Given the description of an element on the screen output the (x, y) to click on. 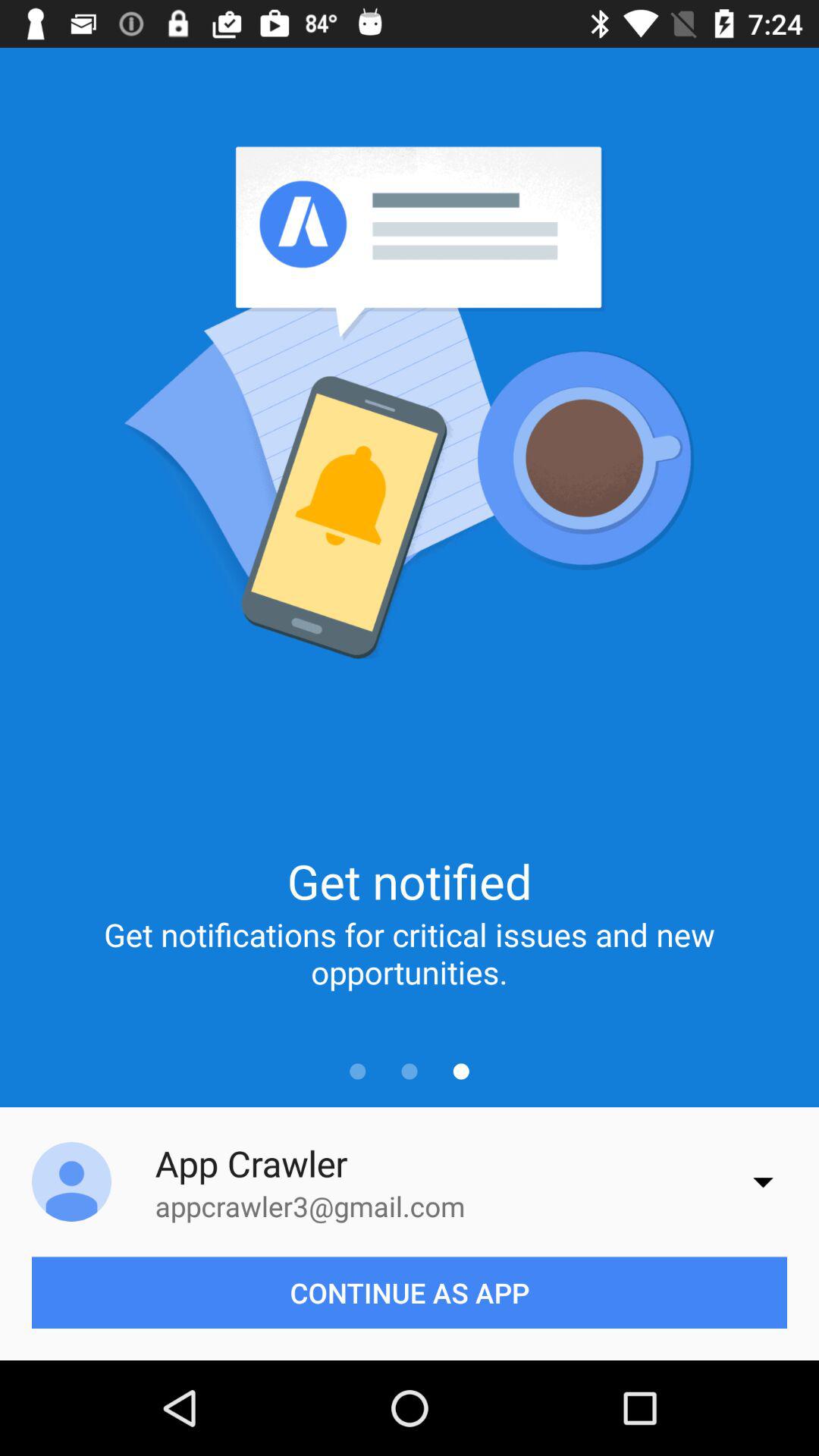
tap item below the appcrawler3@gmail.com item (409, 1292)
